Given the description of an element on the screen output the (x, y) to click on. 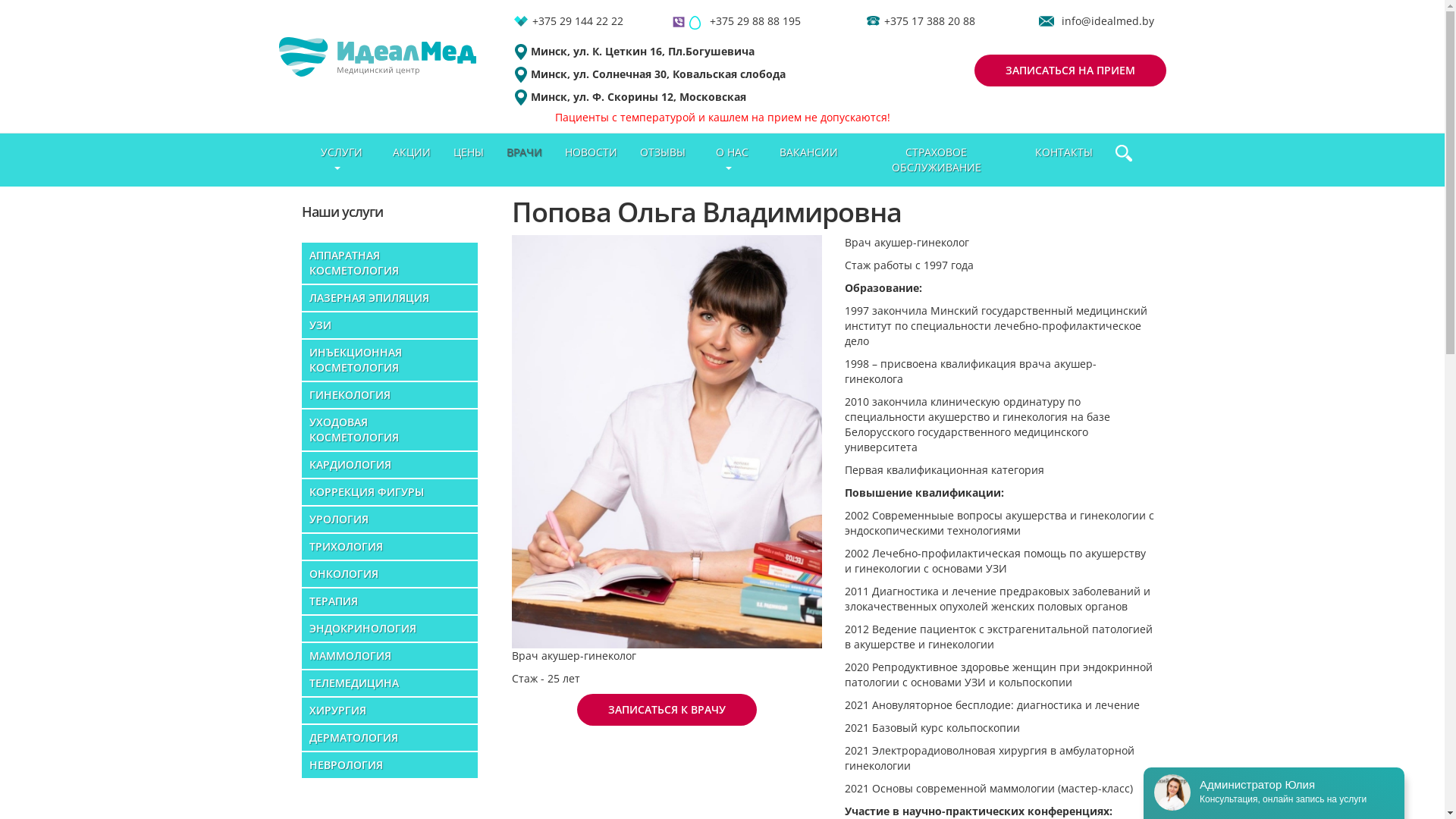
+375 29 88 88 195 Element type: text (754, 20)
+375 17 388 20 88 Element type: text (929, 20)
info@idealmed.by Element type: text (1107, 20)
+375 29 144 22 22 Element type: text (577, 20)
Viber Element type: hover (678, 20)
